Given the description of an element on the screen output the (x, y) to click on. 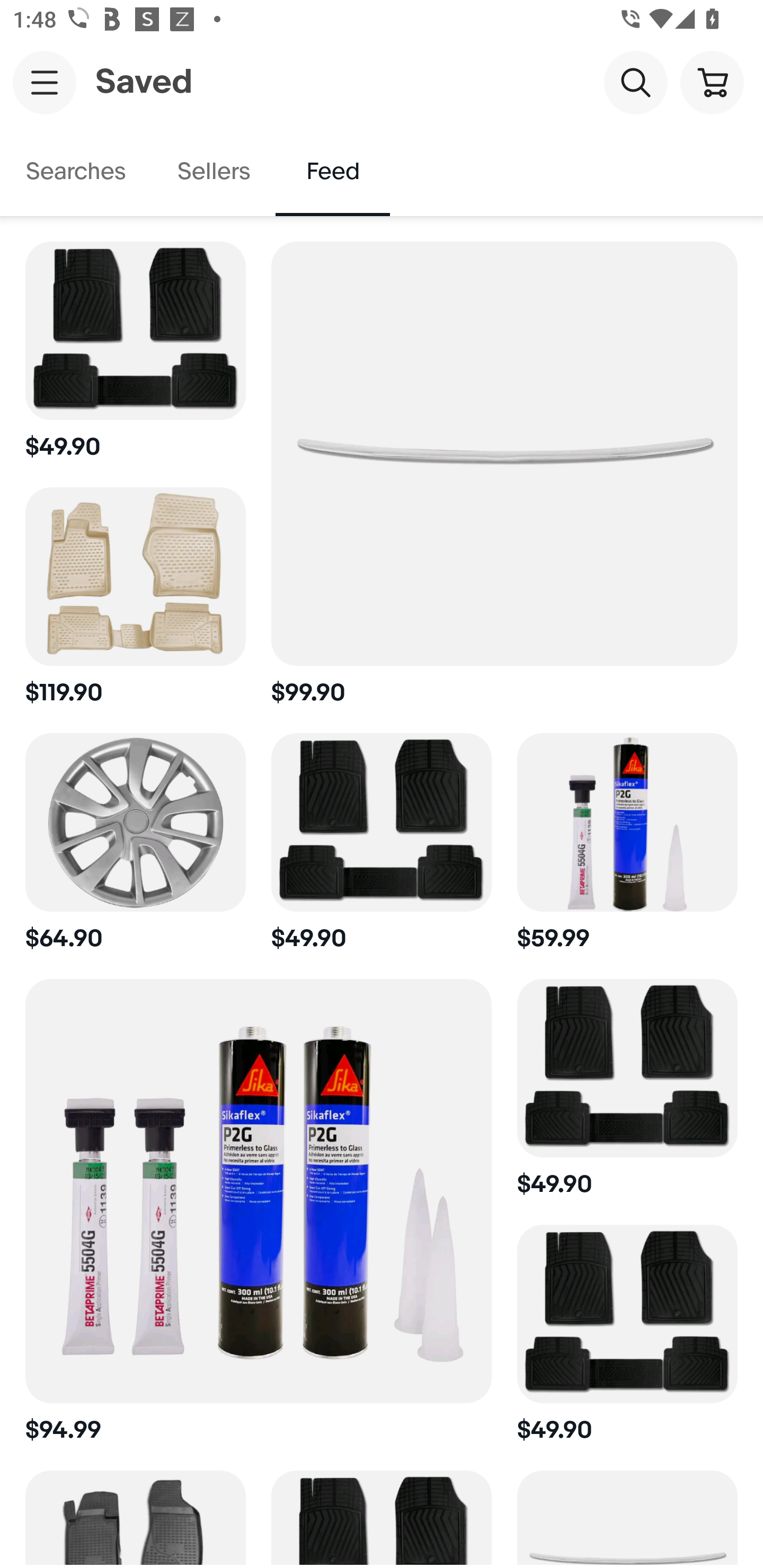
Main navigation, open (44, 82)
Search (635, 81)
Cart button shopping cart (711, 81)
Searches (75, 171)
Sellers (213, 171)
